Given the description of an element on the screen output the (x, y) to click on. 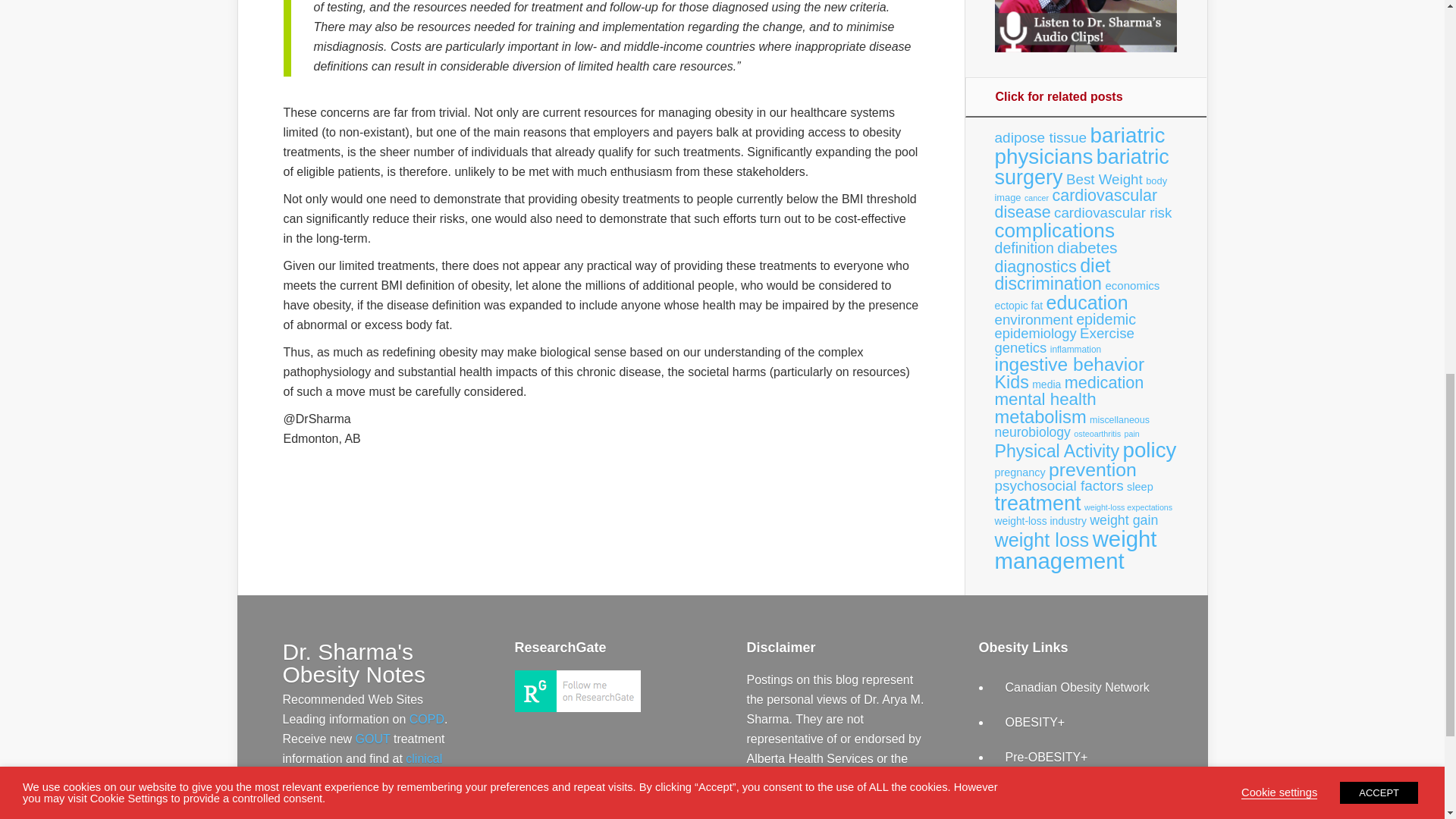
cardiovascular disease (1075, 203)
adipose tissue (1040, 137)
cardiovascular risk (1113, 212)
environment (1033, 318)
bariatric physicians (1080, 145)
complications (1054, 230)
Gout Institute (372, 738)
discrimination (1048, 283)
definition (1024, 247)
Best Weight (1103, 179)
Weight Wise (1040, 791)
body image (1080, 189)
Arya Mitra Sharma (576, 707)
COPD (426, 718)
economics (1131, 285)
